Given the description of an element on the screen output the (x, y) to click on. 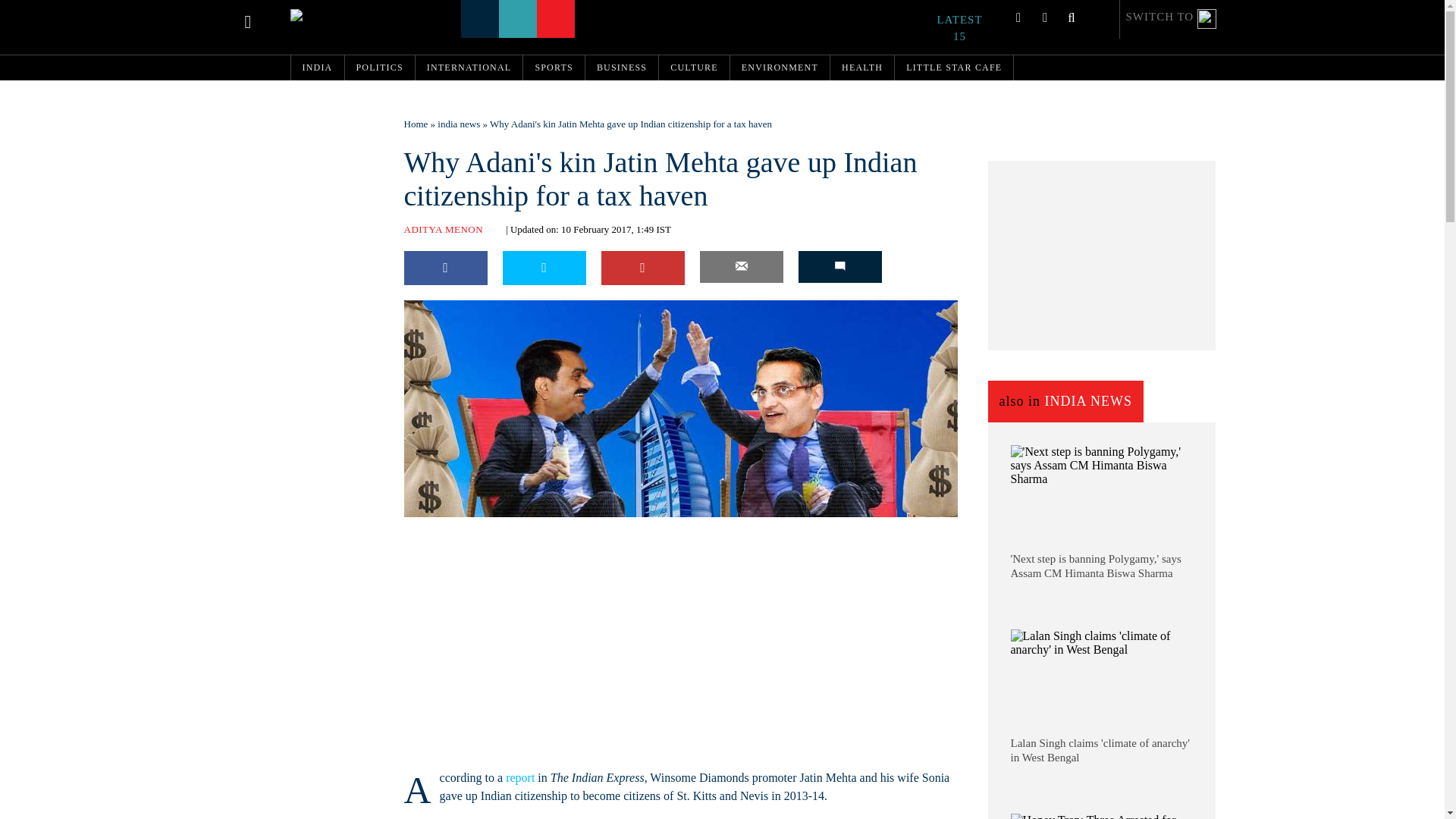
fb:like Facebook Social Plugin (422, 628)
Catch News (325, 15)
LATEST 15 (968, 28)
Twitter Follow Button (501, 628)
